Given the description of an element on the screen output the (x, y) to click on. 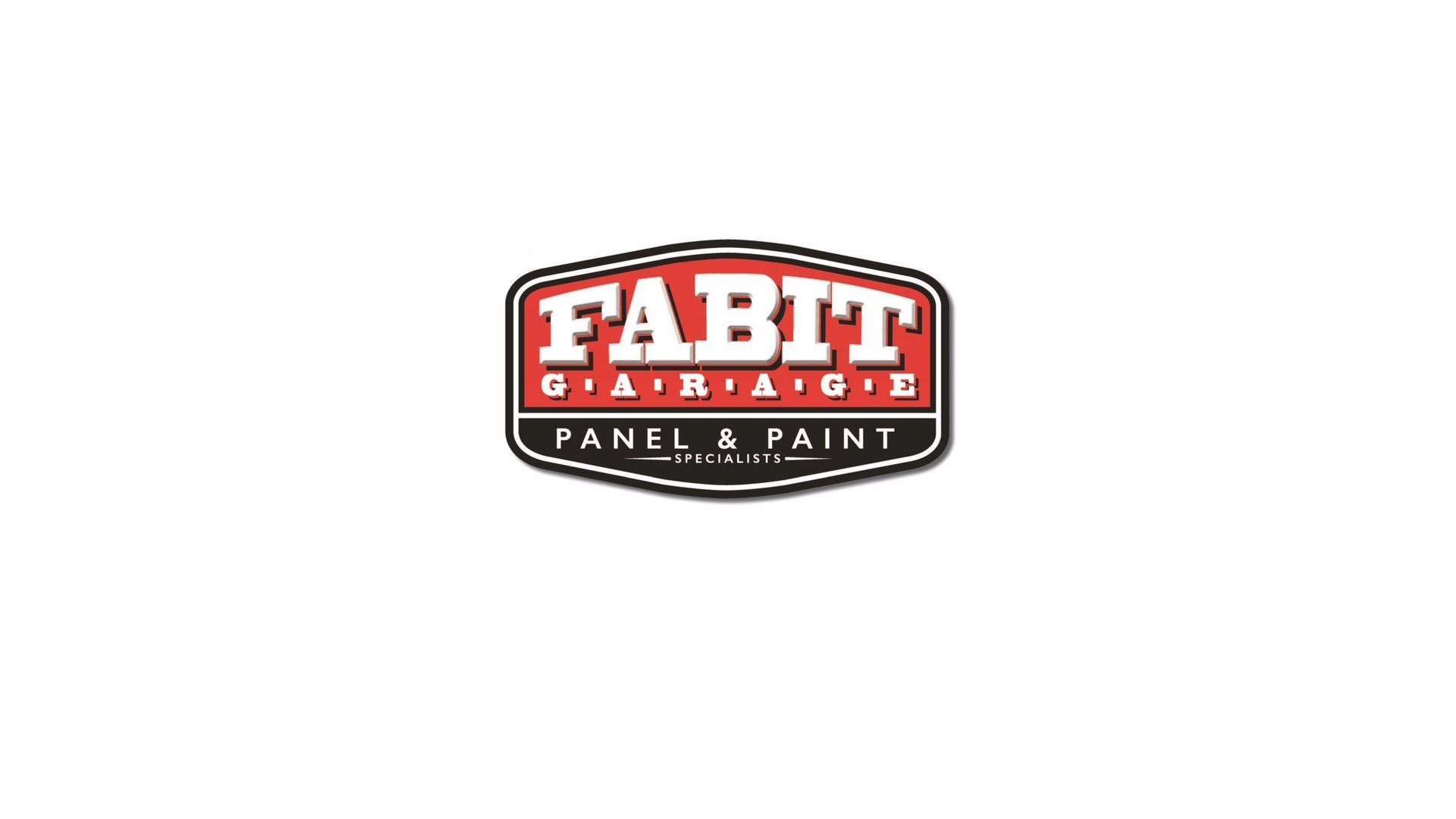
FABIT GARAGE PANEL & PAINT Element type: hover (727, 367)
